Given the description of an element on the screen output the (x, y) to click on. 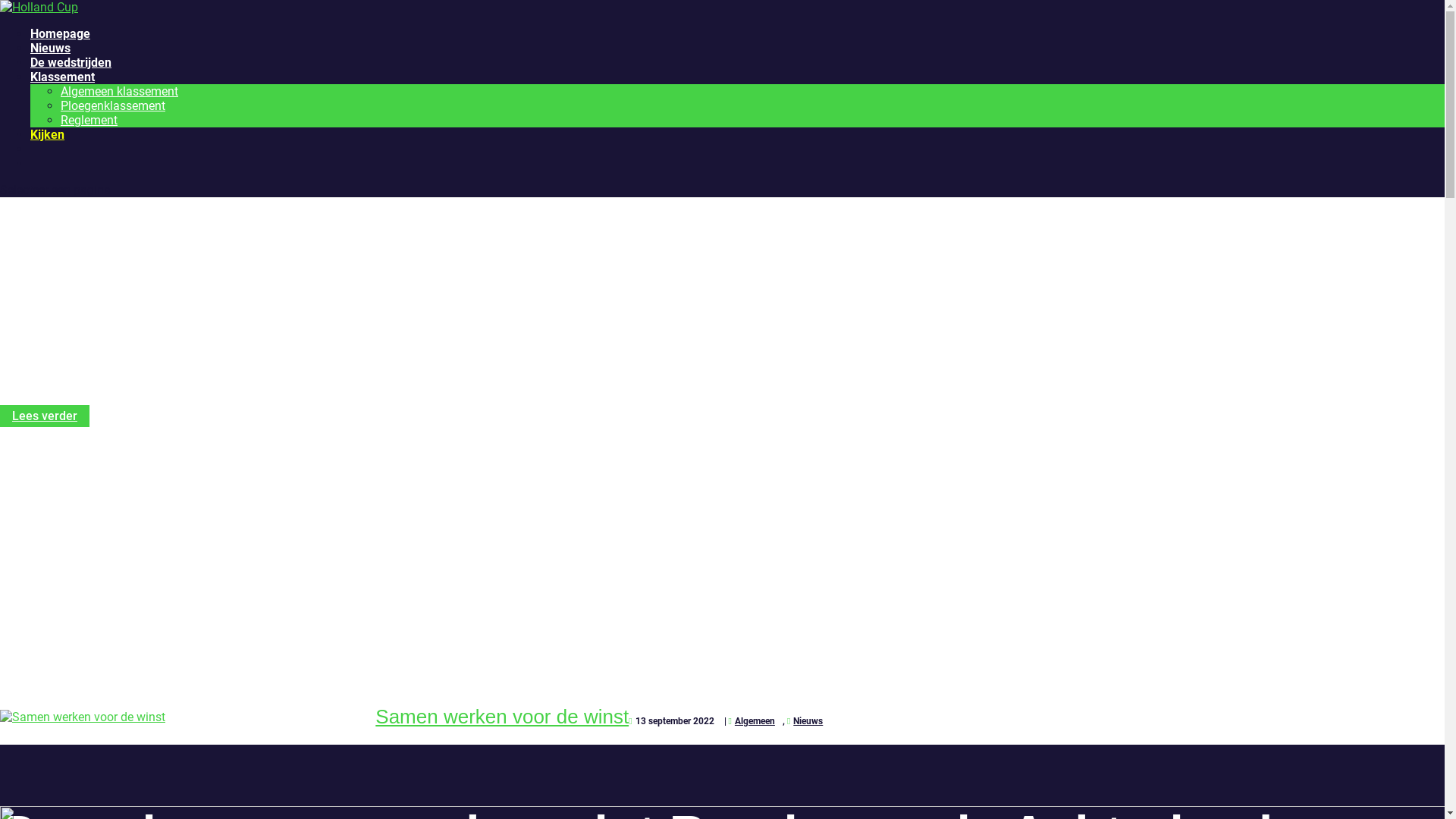
Kijken Element type: text (47, 134)
Algemeen klassement Element type: text (119, 91)
Lees verder Element type: text (44, 415)
Reglement Element type: text (88, 119)
Nieuws Element type: text (804, 720)
De wedstrijden Element type: text (70, 62)
Homepage Element type: text (60, 33)
De Ronde van de Achterhoek in beeld Element type: text (449, 341)
Algemeen Element type: text (751, 720)
Ploegenklassement Element type: text (112, 105)
Samen werken voor de winst Element type: text (501, 716)
Klassement Element type: text (62, 76)
Nieuws Element type: text (50, 47)
